Given the description of an element on the screen output the (x, y) to click on. 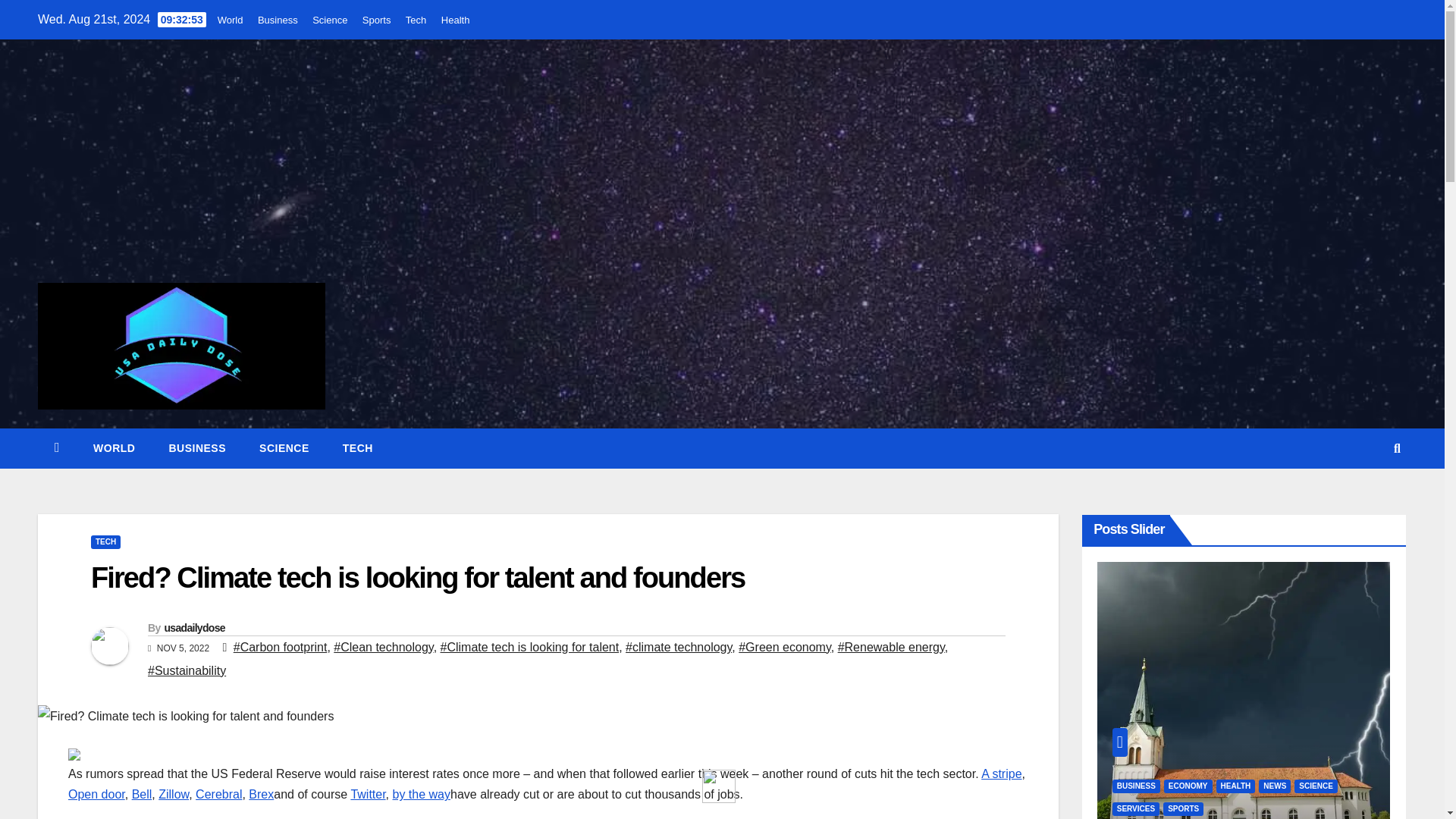
Sports (376, 19)
Business (197, 447)
Health (455, 19)
Science (330, 19)
A stripe (1001, 773)
TECH (105, 541)
usadailydose (193, 627)
Bell (142, 793)
Science (284, 447)
